Given the description of an element on the screen output the (x, y) to click on. 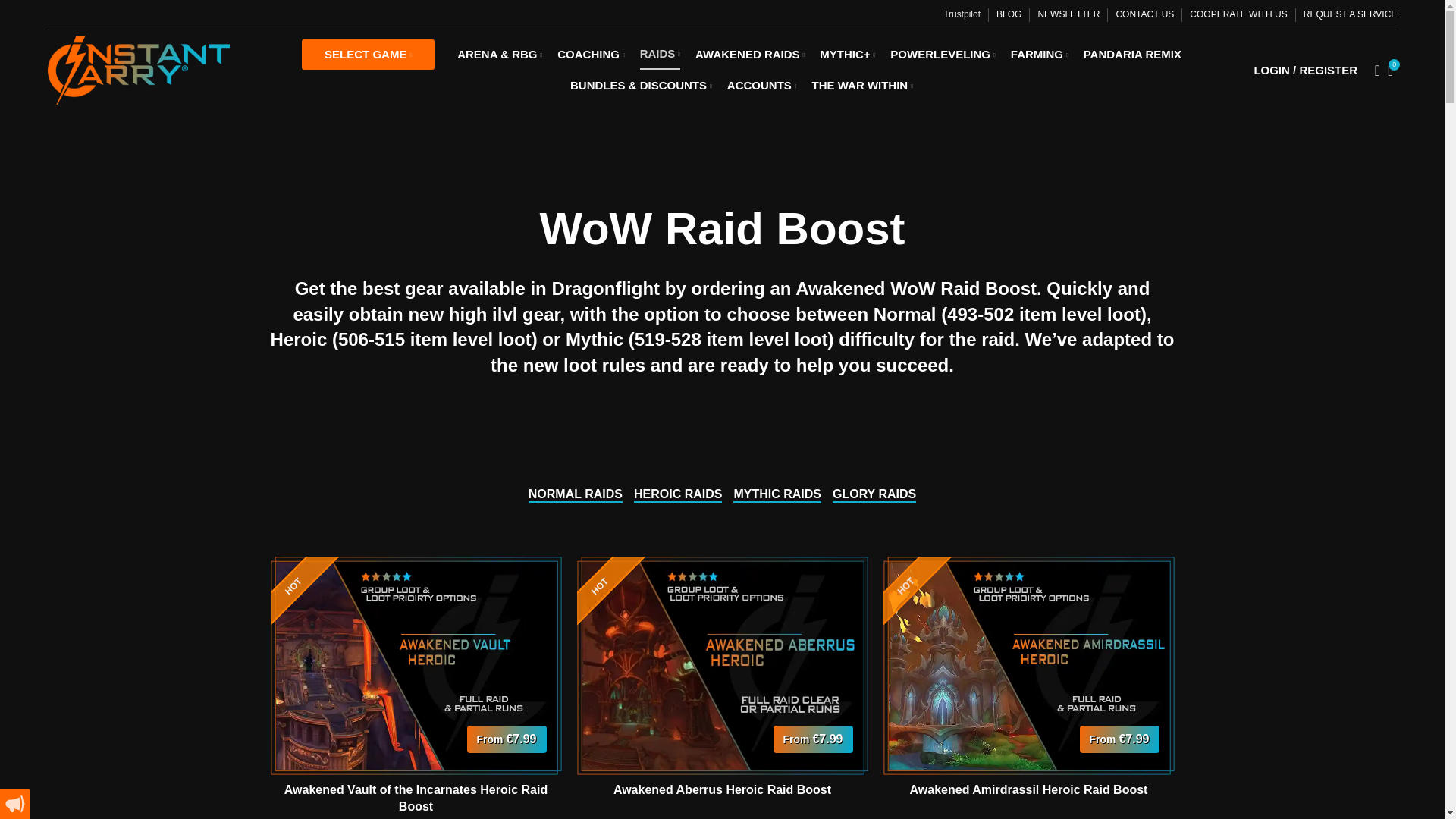
CONTACT US (1144, 15)
REQUEST A SERVICE (1350, 15)
BLOG (1008, 15)
My account (1305, 69)
COACHING (590, 54)
RAIDS (659, 54)
Search (1372, 69)
SELECT GAME (368, 54)
COOPERATE WITH US (1238, 15)
Shopping cart (1390, 69)
Trustpilot (961, 14)
NEWSLETTER (1067, 15)
